Given the description of an element on the screen output the (x, y) to click on. 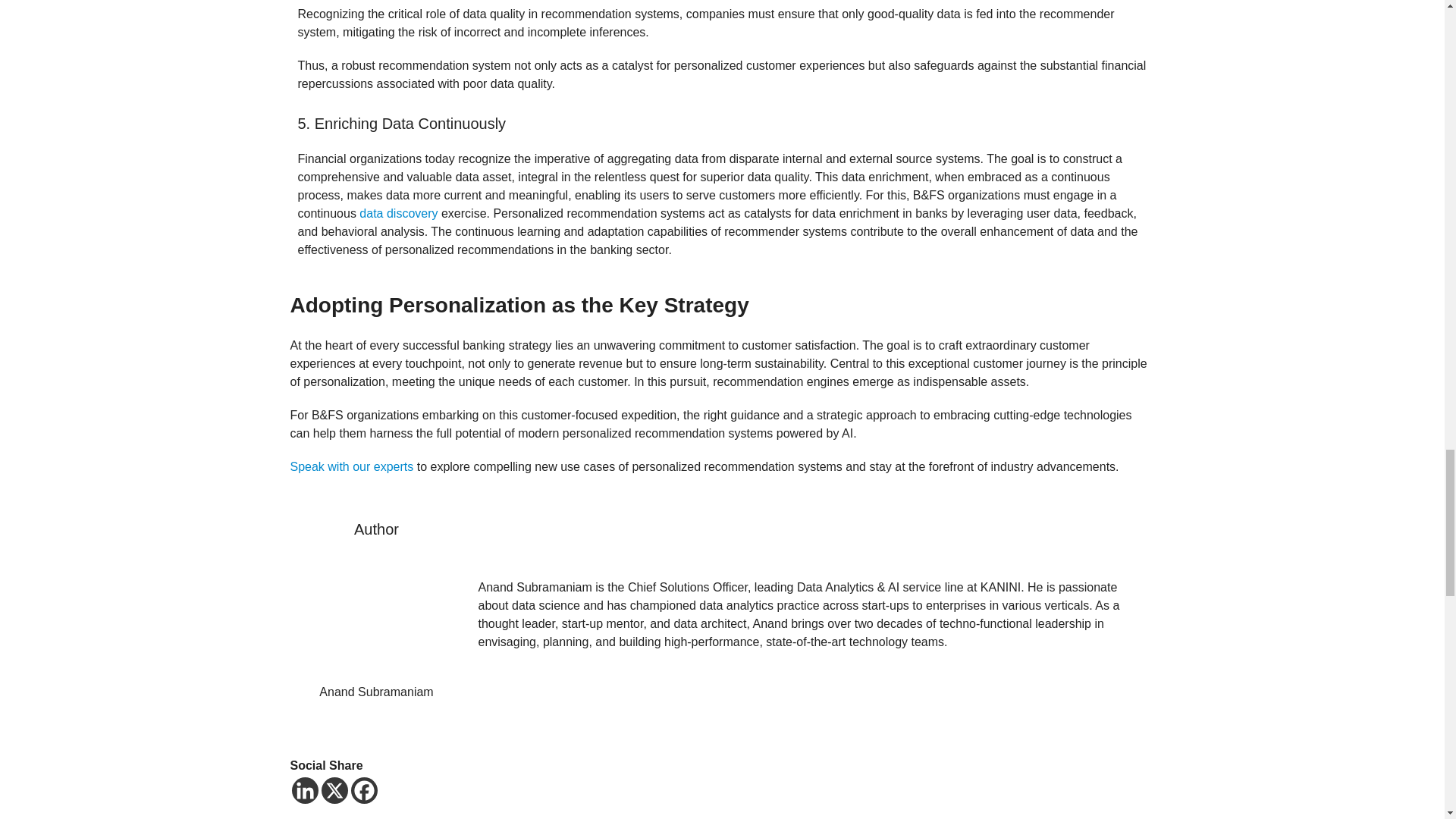
X (334, 790)
Facebook (363, 790)
Linkedin (304, 790)
